Given the description of an element on the screen output the (x, y) to click on. 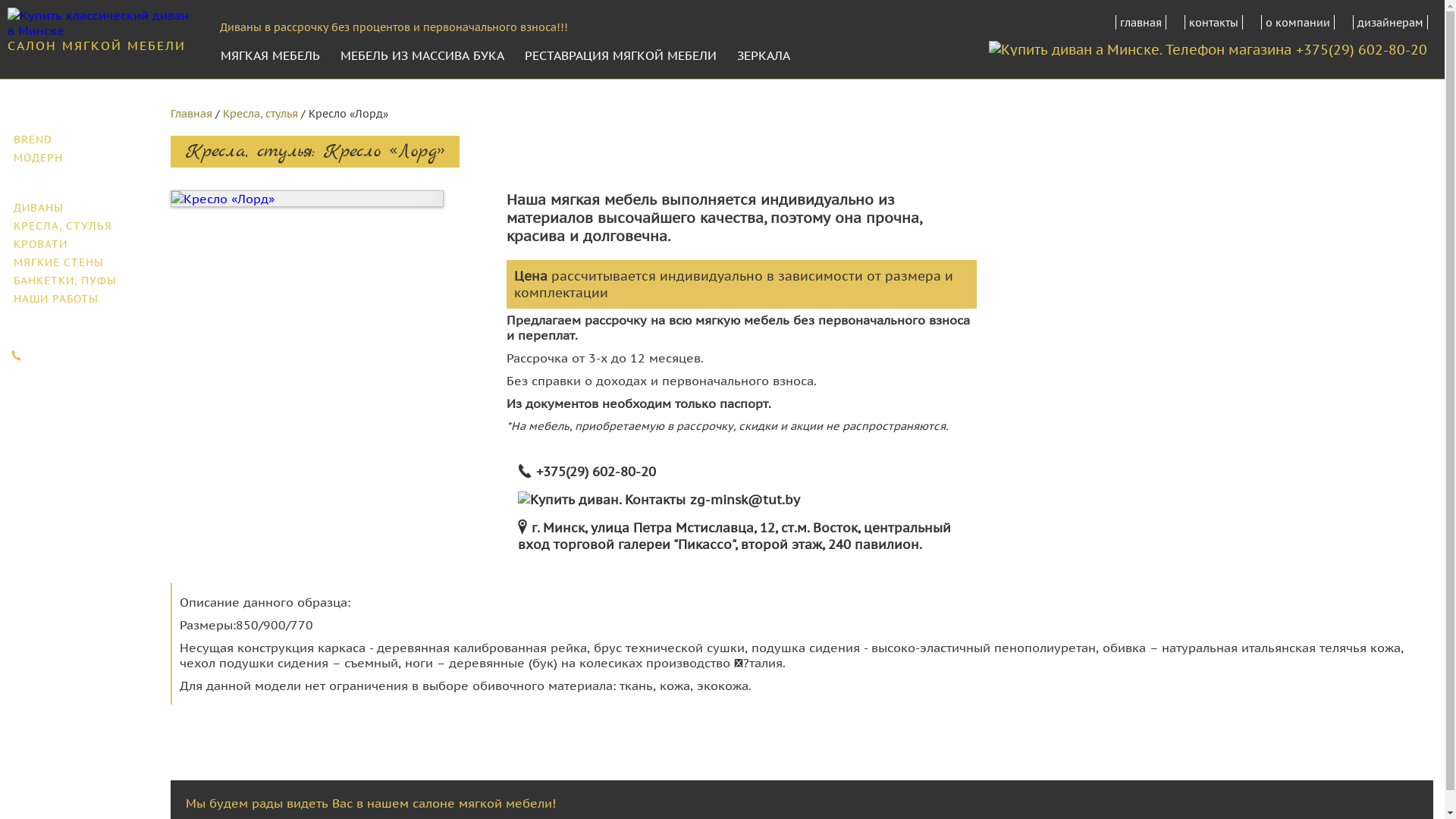
zg-minsk@tut.by Element type: text (745, 499)
+375(29) 602-80-20 Element type: text (1361, 49)
+375(29) 602-80-20 Element type: text (84, 352)
+375(29) 602-80-20 Element type: text (595, 471)
BREND Element type: text (79, 139)
